Given the description of an element on the screen output the (x, y) to click on. 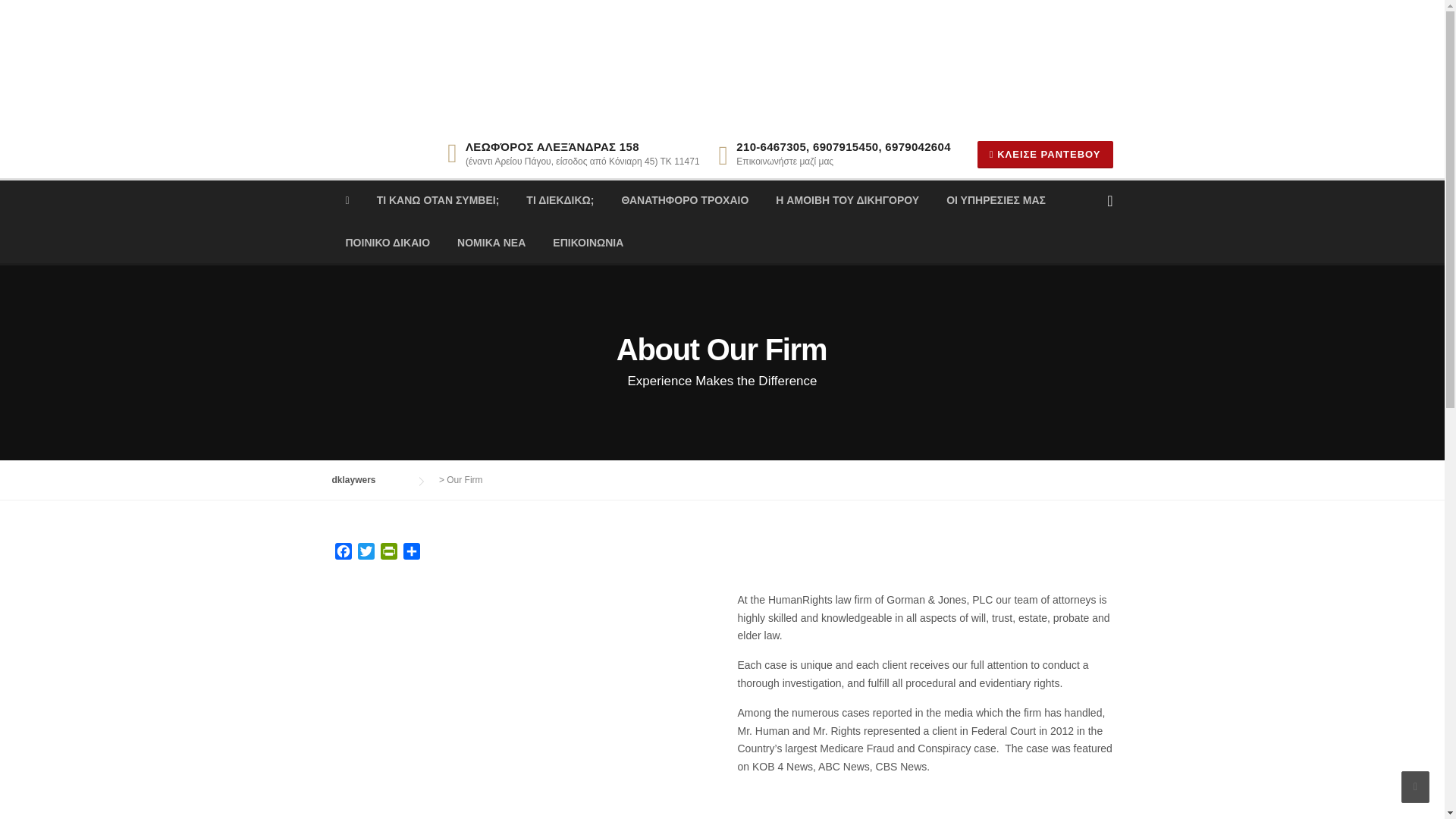
Share (411, 553)
Twitter (366, 553)
PrintFriendly (388, 553)
Facebook (343, 553)
Facebook (343, 553)
Go to dklaywers. (368, 480)
PrintFriendly (388, 553)
dklaywers (368, 480)
Twitter (366, 553)
dklaywers (482, 63)
